Given the description of an element on the screen output the (x, y) to click on. 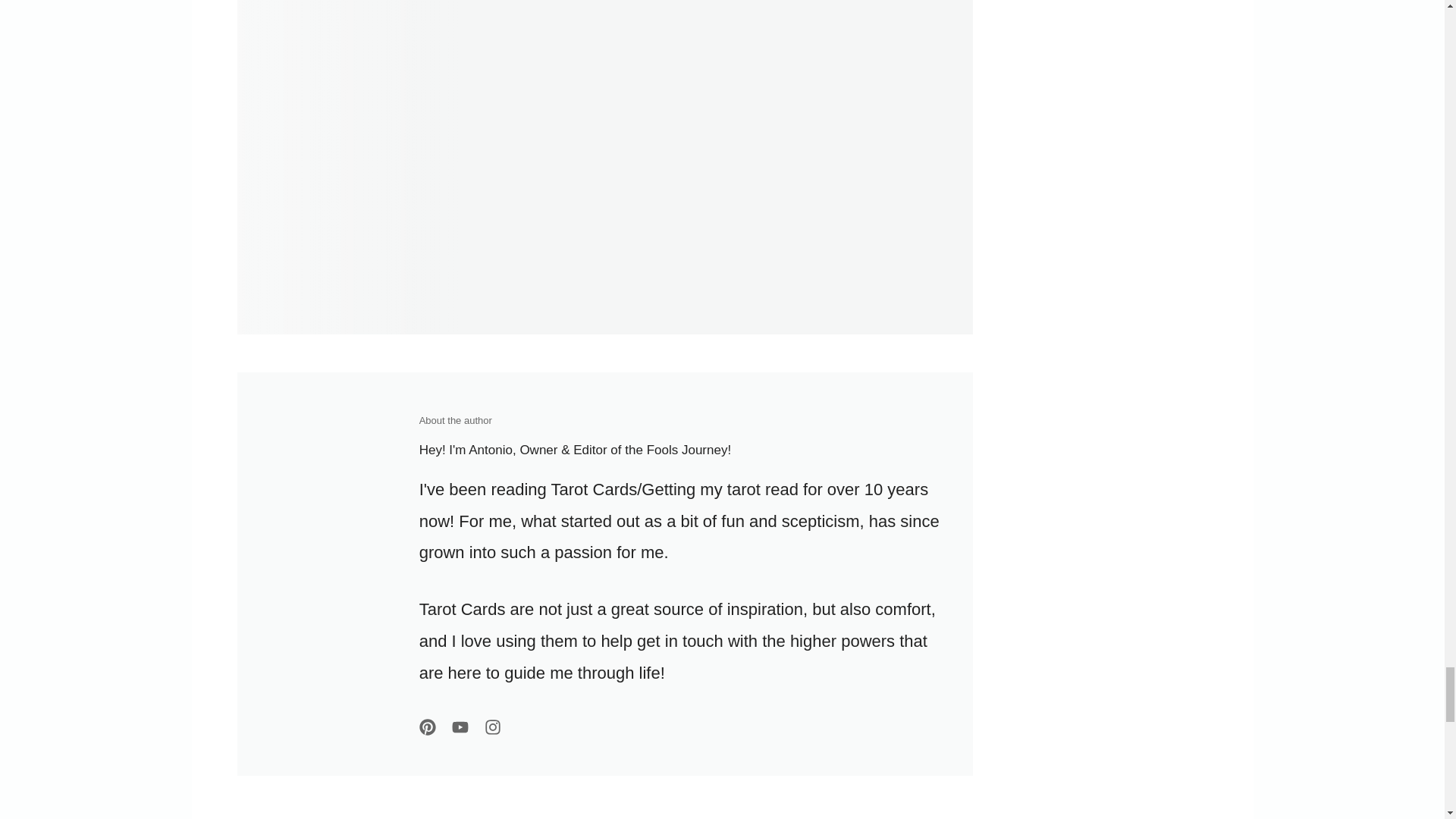
author (304, 573)
